Given the description of an element on the screen output the (x, y) to click on. 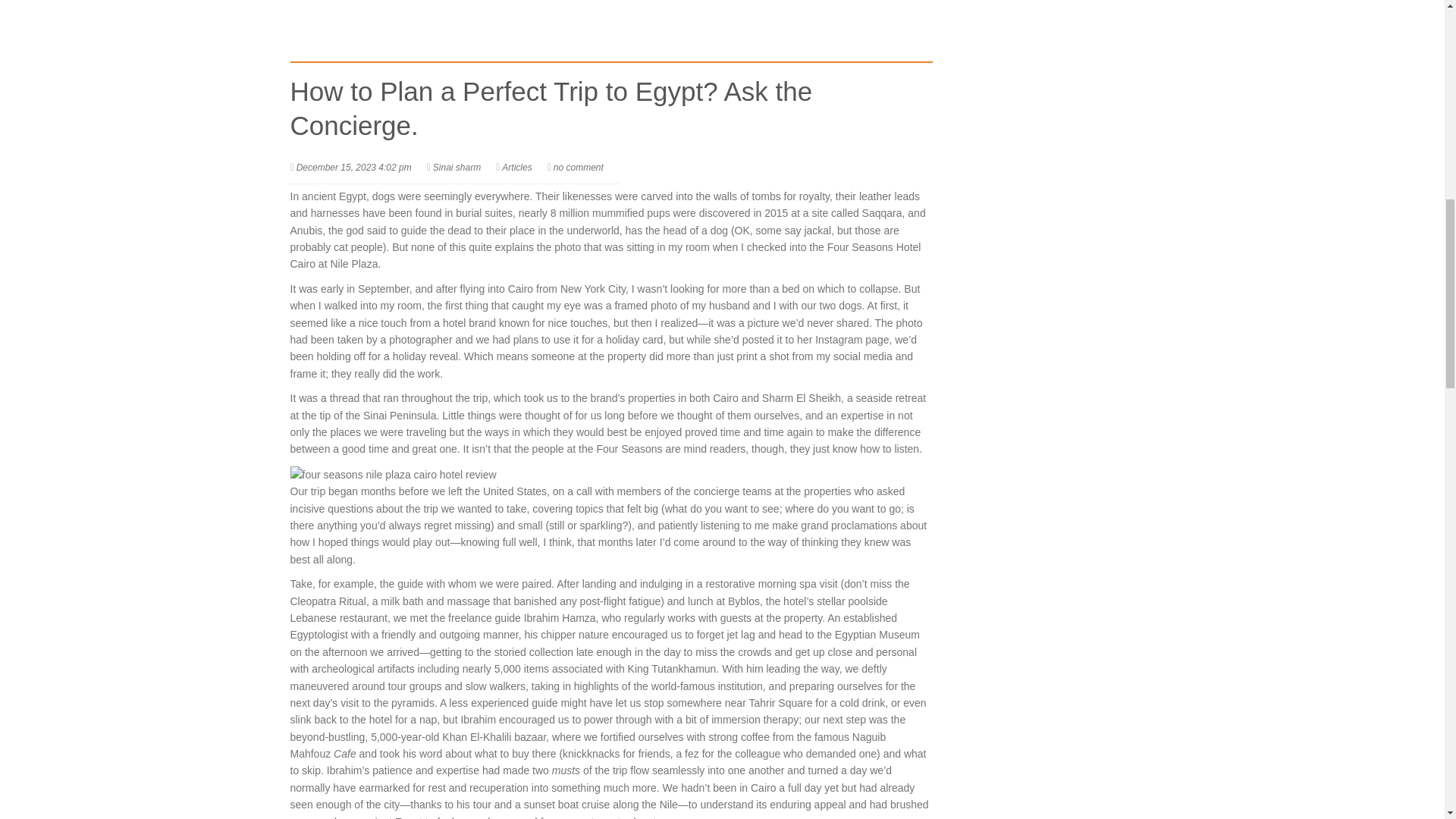
no comment (578, 167)
December 15, 2023 4:02 pm (354, 167)
How to Plan a Perfect Trip to Egypt? Ask the Concierge. (550, 108)
Sinai sharm (456, 167)
Articles (516, 167)
